Given the description of an element on the screen output the (x, y) to click on. 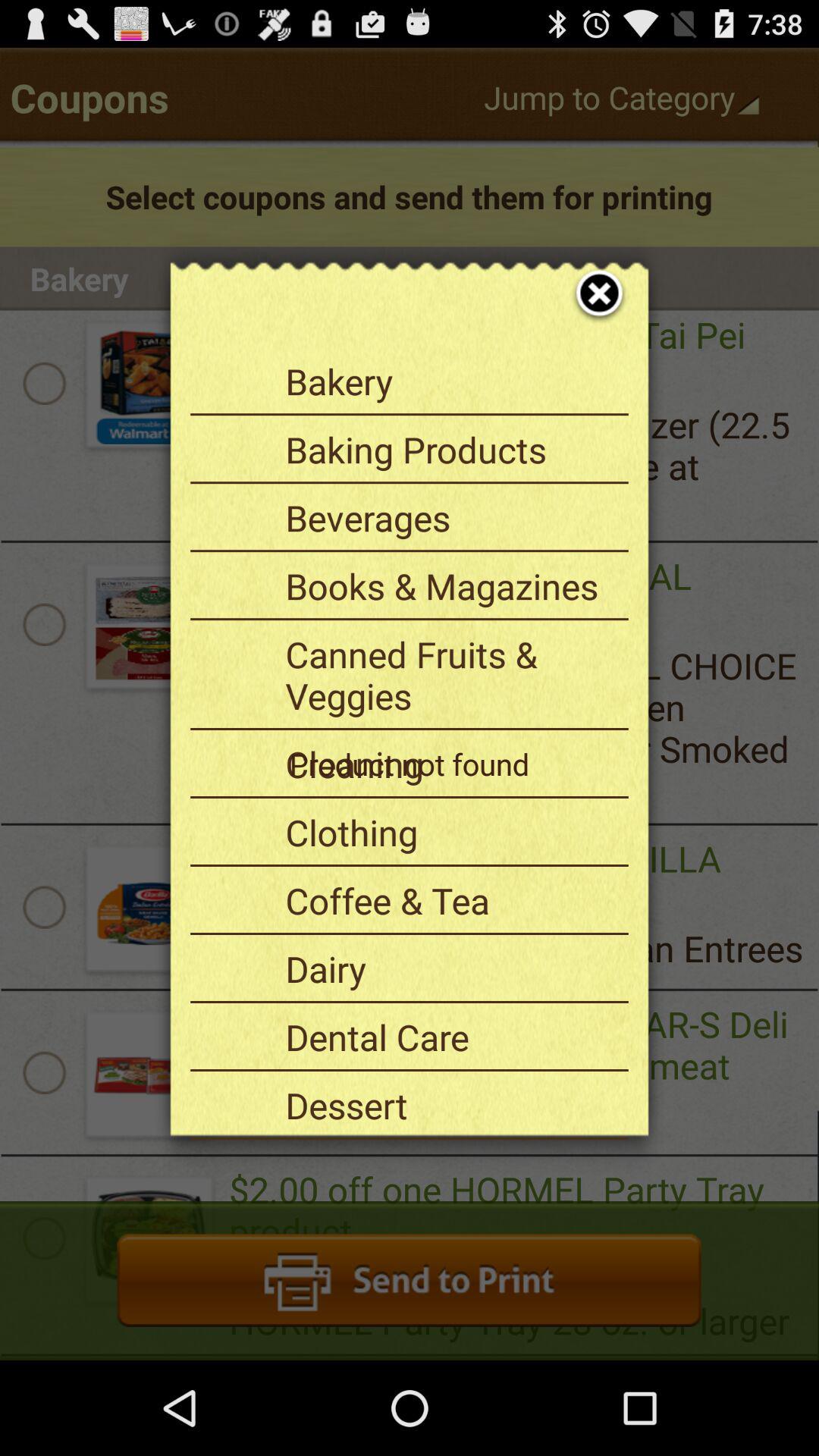
scroll to bakery item (451, 380)
